Given the description of an element on the screen output the (x, y) to click on. 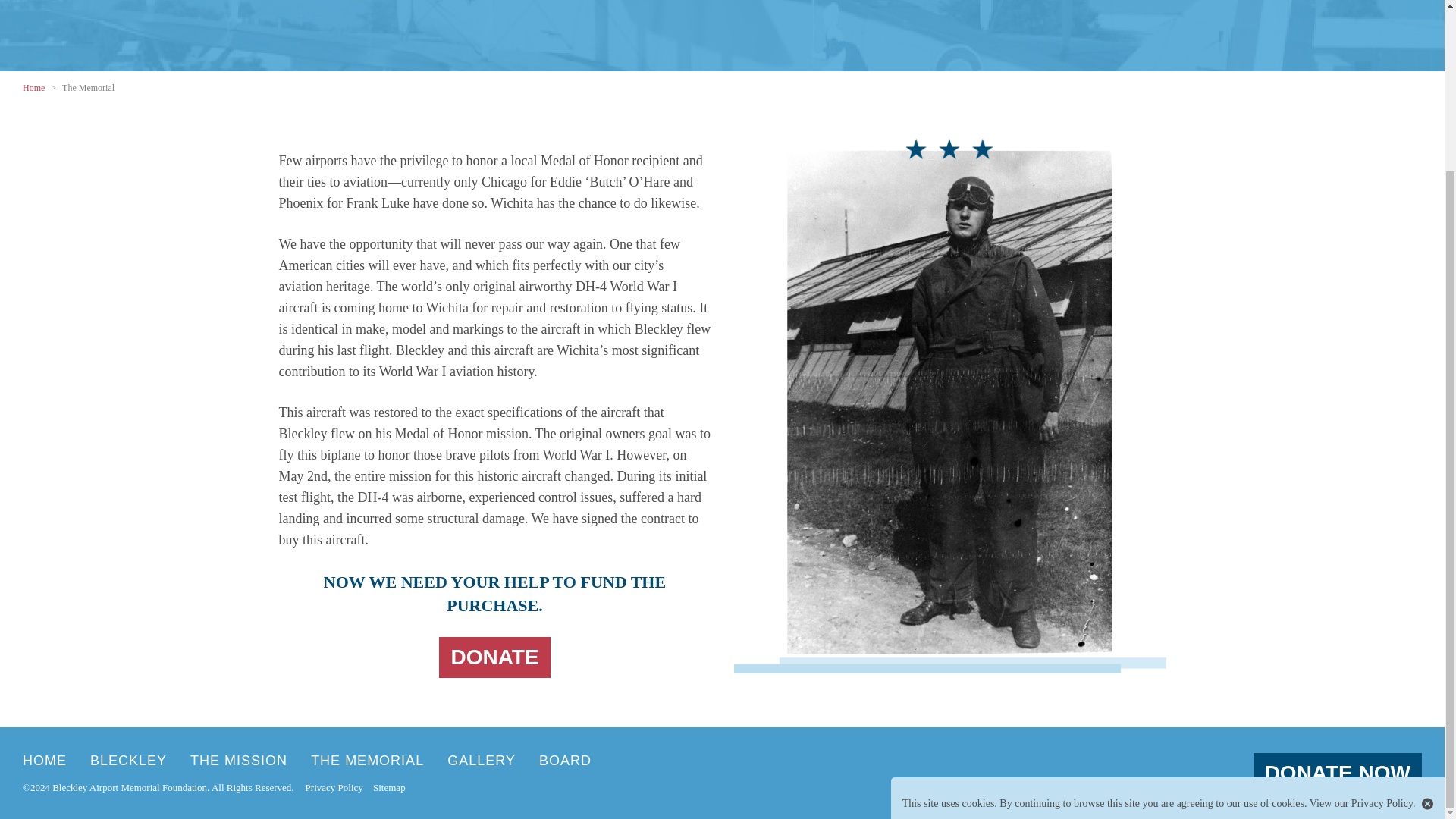
View our Privacy Policy (1360, 596)
Home (35, 87)
THE MEMORIAL (367, 760)
THE MISSION (238, 760)
BLECKLEY (128, 760)
GALLERY (480, 760)
Privacy policy (1360, 596)
Sitemap (389, 787)
BOARD (564, 760)
Privacy Policy (333, 787)
